Given the description of an element on the screen output the (x, y) to click on. 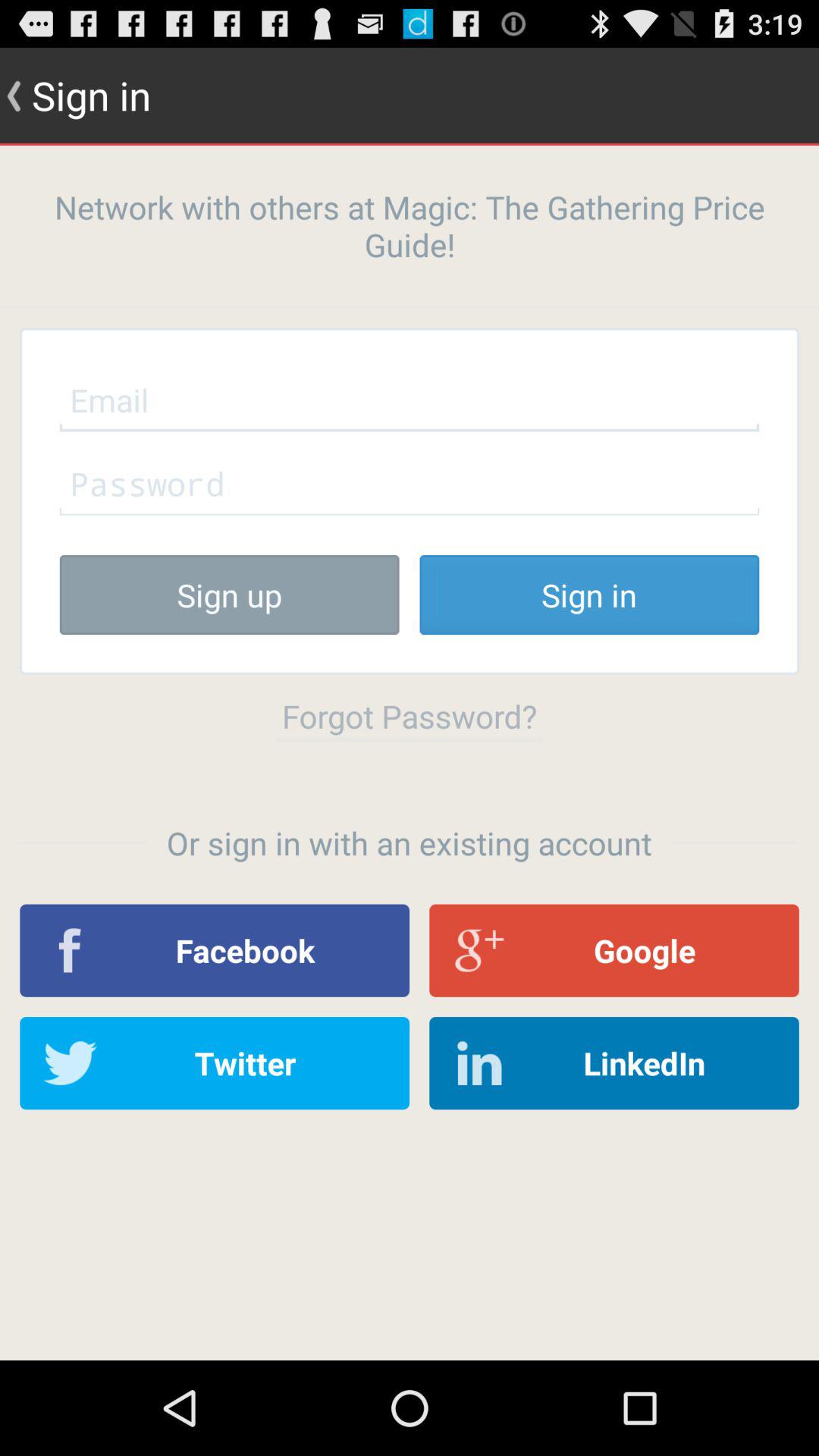
tap icon next to the facebook item (614, 950)
